Given the description of an element on the screen output the (x, y) to click on. 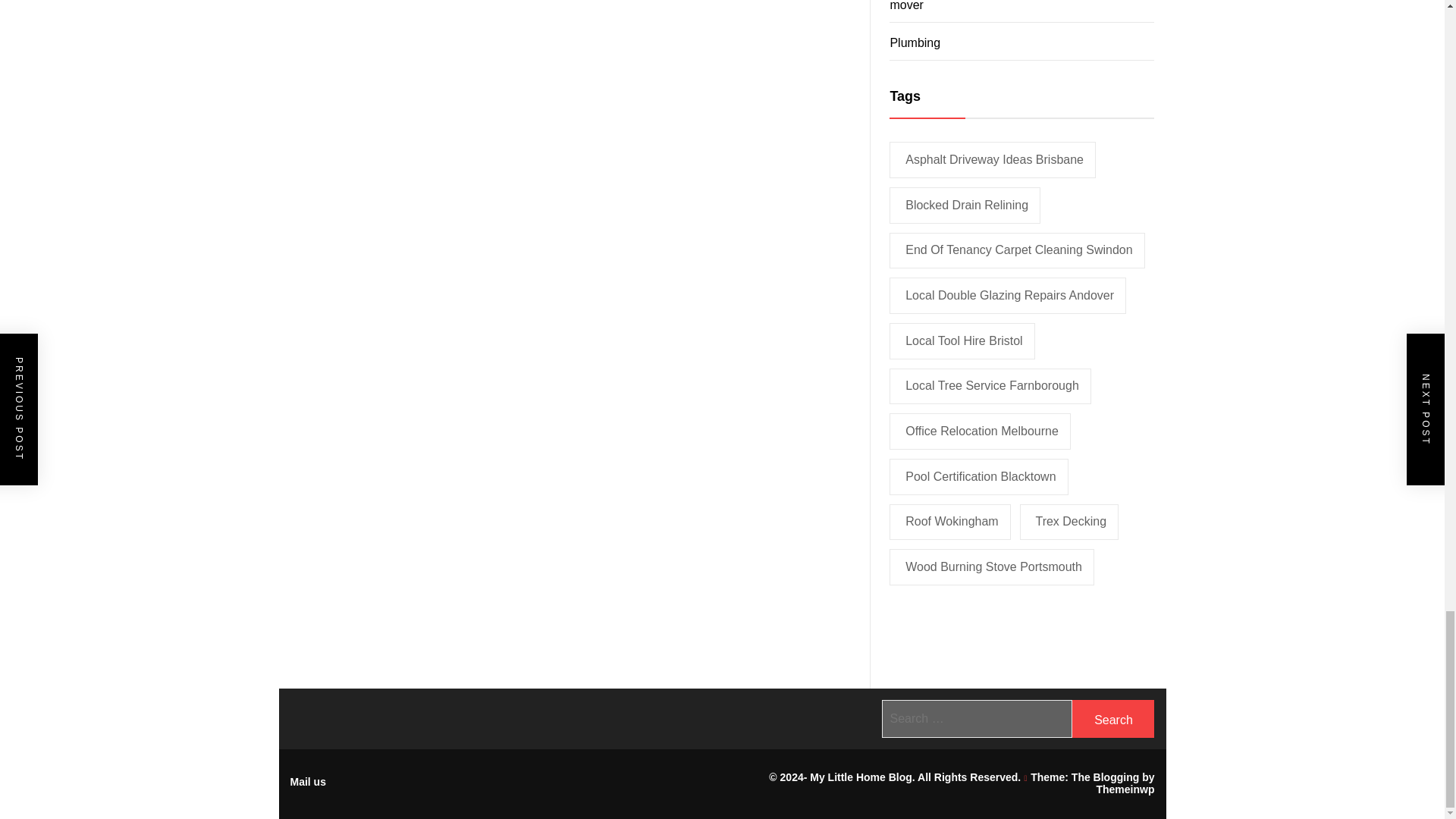
Search (1112, 718)
Search (1112, 718)
